Given the description of an element on the screen output the (x, y) to click on. 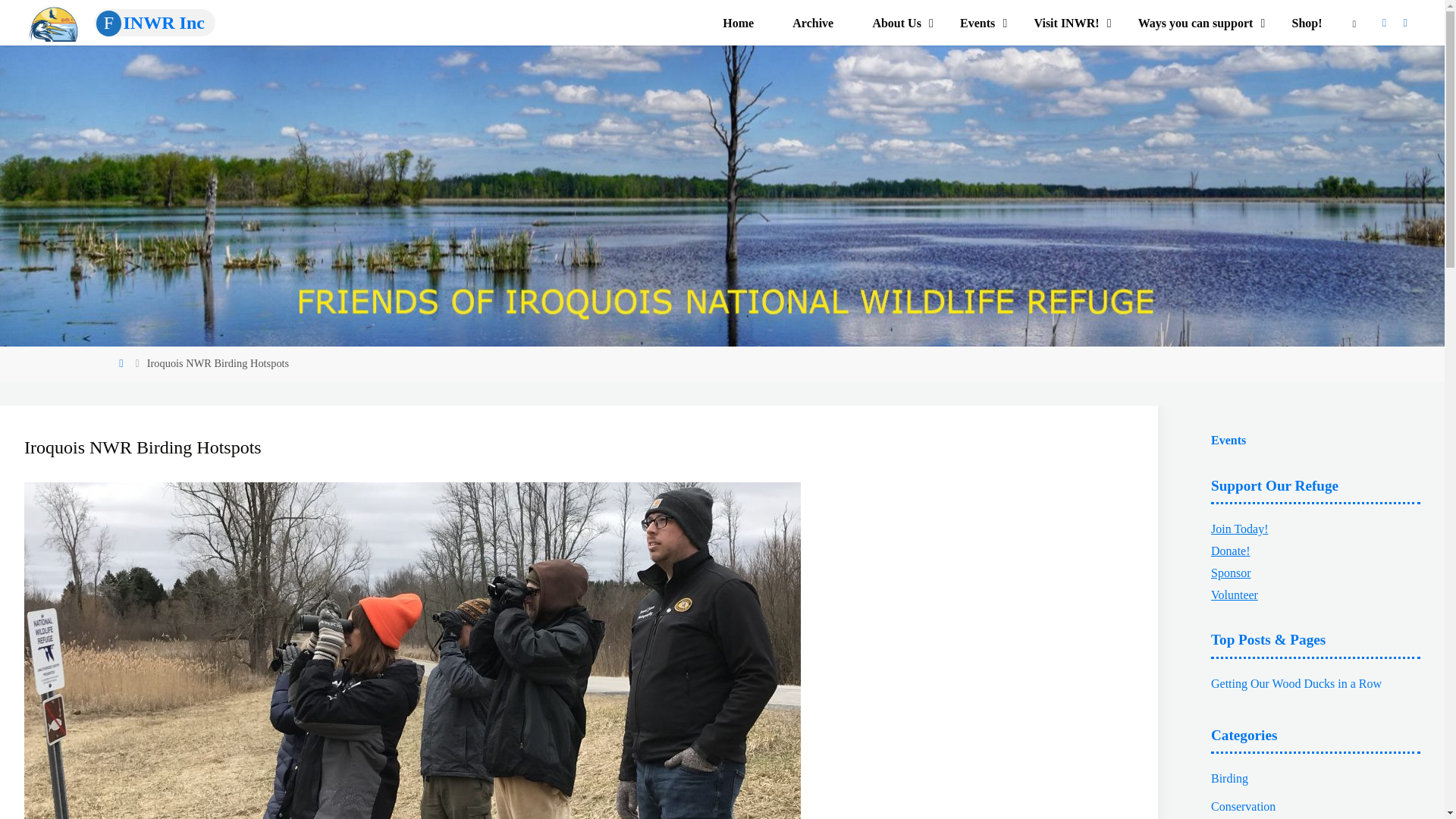
Home (738, 22)
FINWR Inc (154, 22)
Archive (813, 22)
About Us (896, 22)
FINWR Inc (54, 21)
Friends of Iroquois National Wildlife Refuge (154, 22)
